Given the description of an element on the screen output the (x, y) to click on. 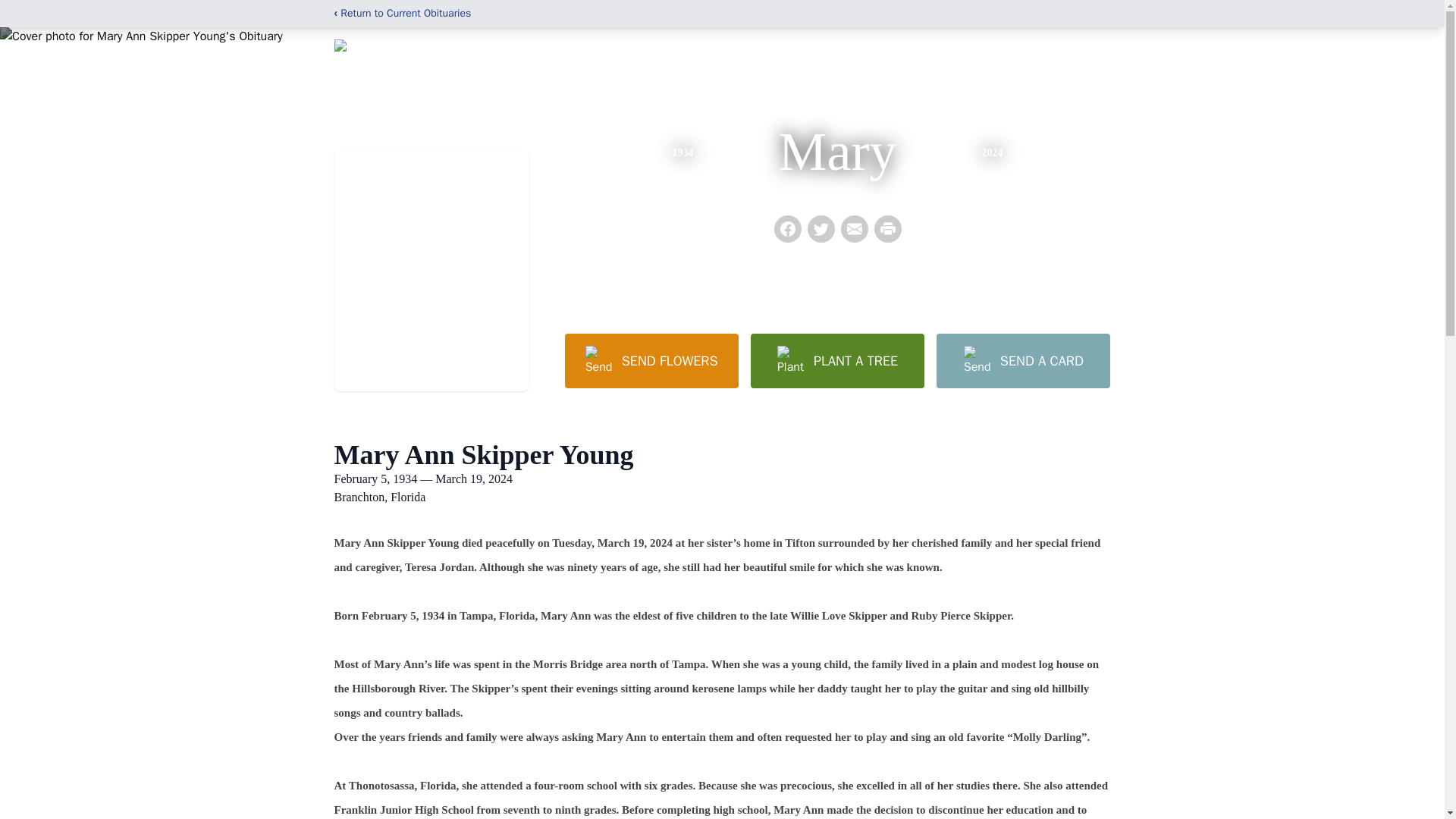
SEND A CARD (1022, 360)
PLANT A TREE (837, 360)
SEND FLOWERS (651, 360)
